Given the description of an element on the screen output the (x, y) to click on. 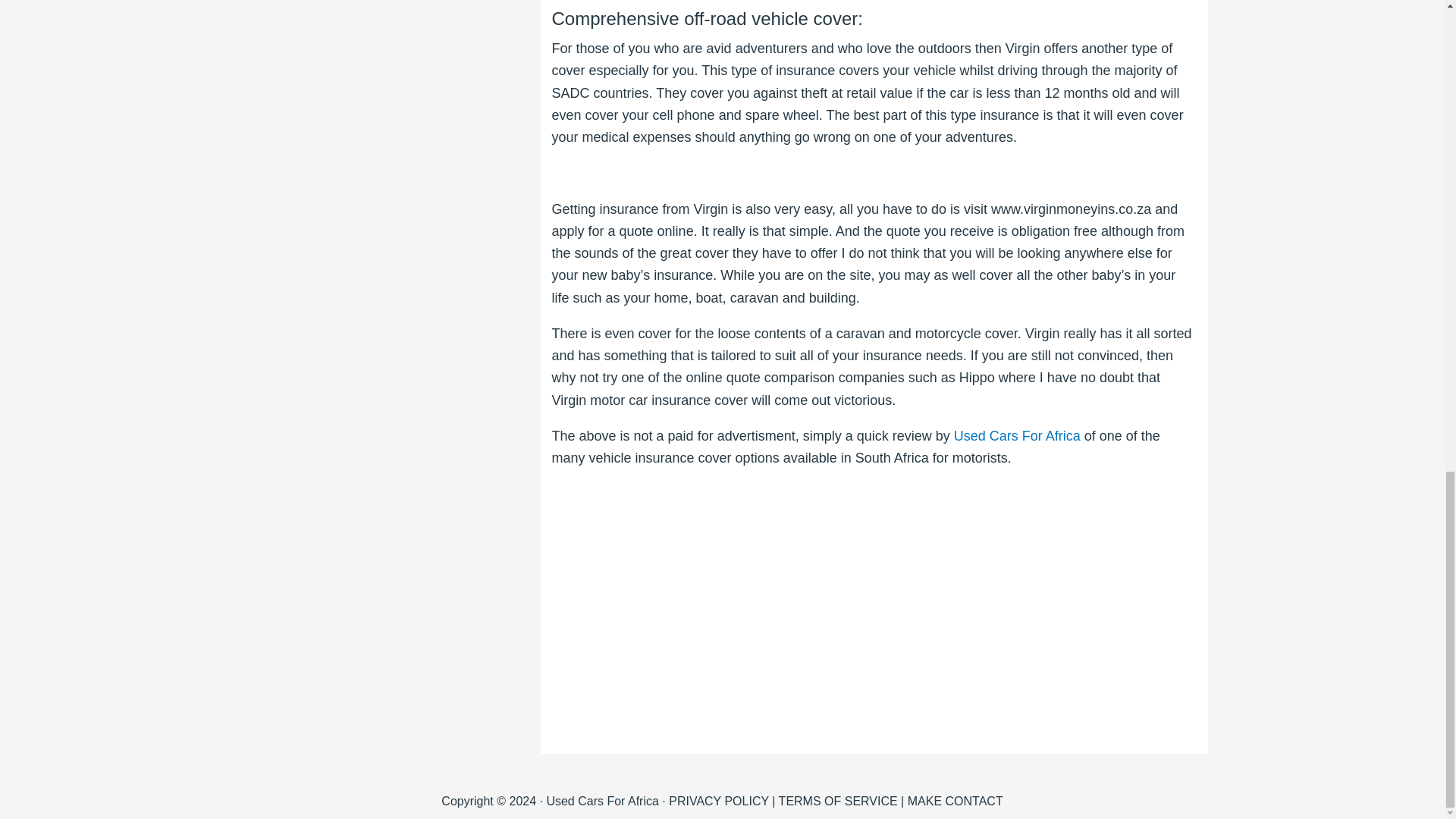
TERMS OF SERVICE (838, 800)
MAKE CONTACT (955, 800)
Used Cars For Africa (1016, 435)
Used Cars For Africa (1016, 435)
PRIVACY POLICY (718, 800)
